Given the description of an element on the screen output the (x, y) to click on. 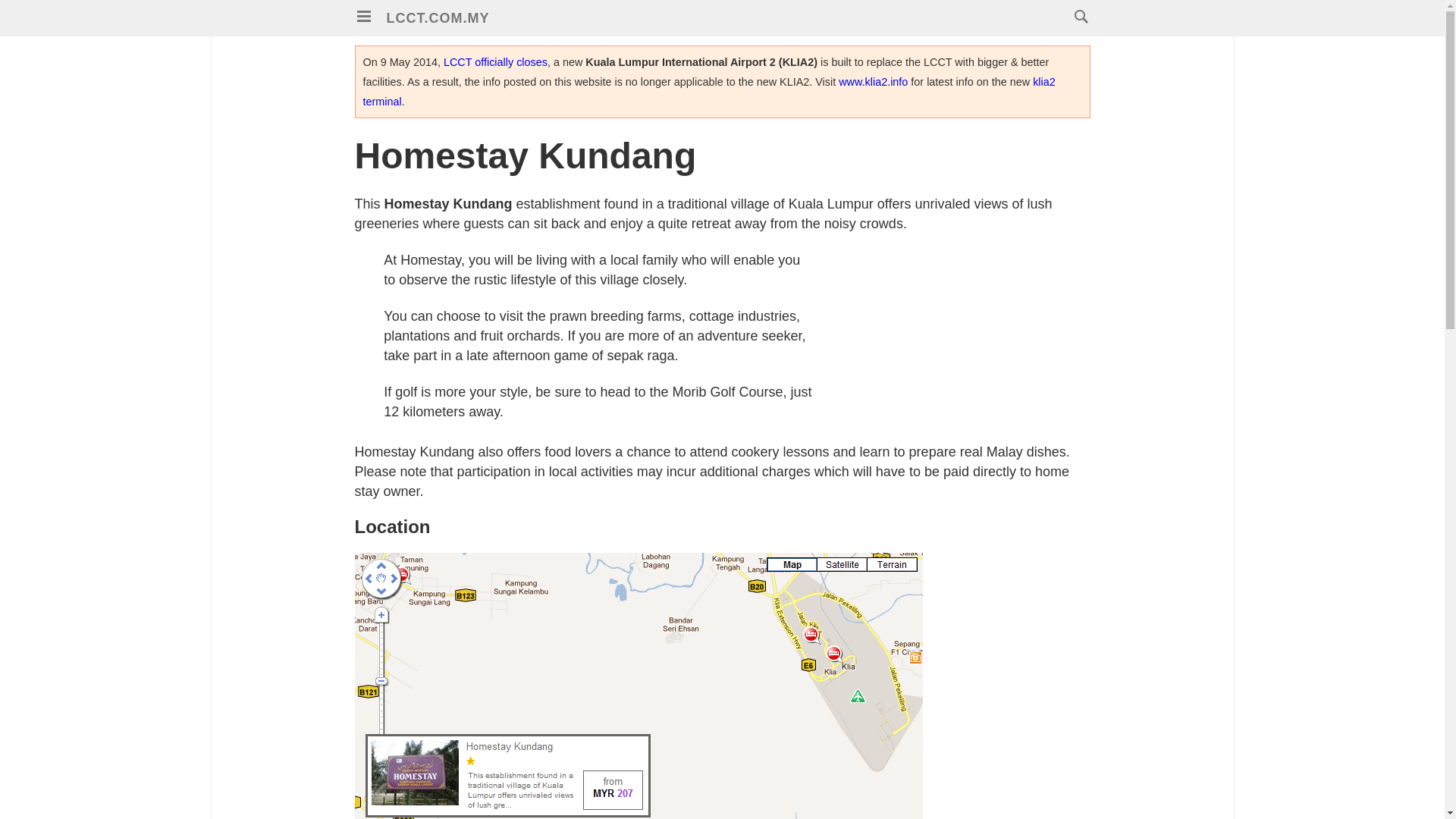
klia2 terminal (708, 91)
Search (45, 20)
LCCT officially closes (495, 61)
LCCT.COM.MY (438, 17)
Search for: (1077, 16)
www.klia2.info (872, 81)
